Given the description of an element on the screen output the (x, y) to click on. 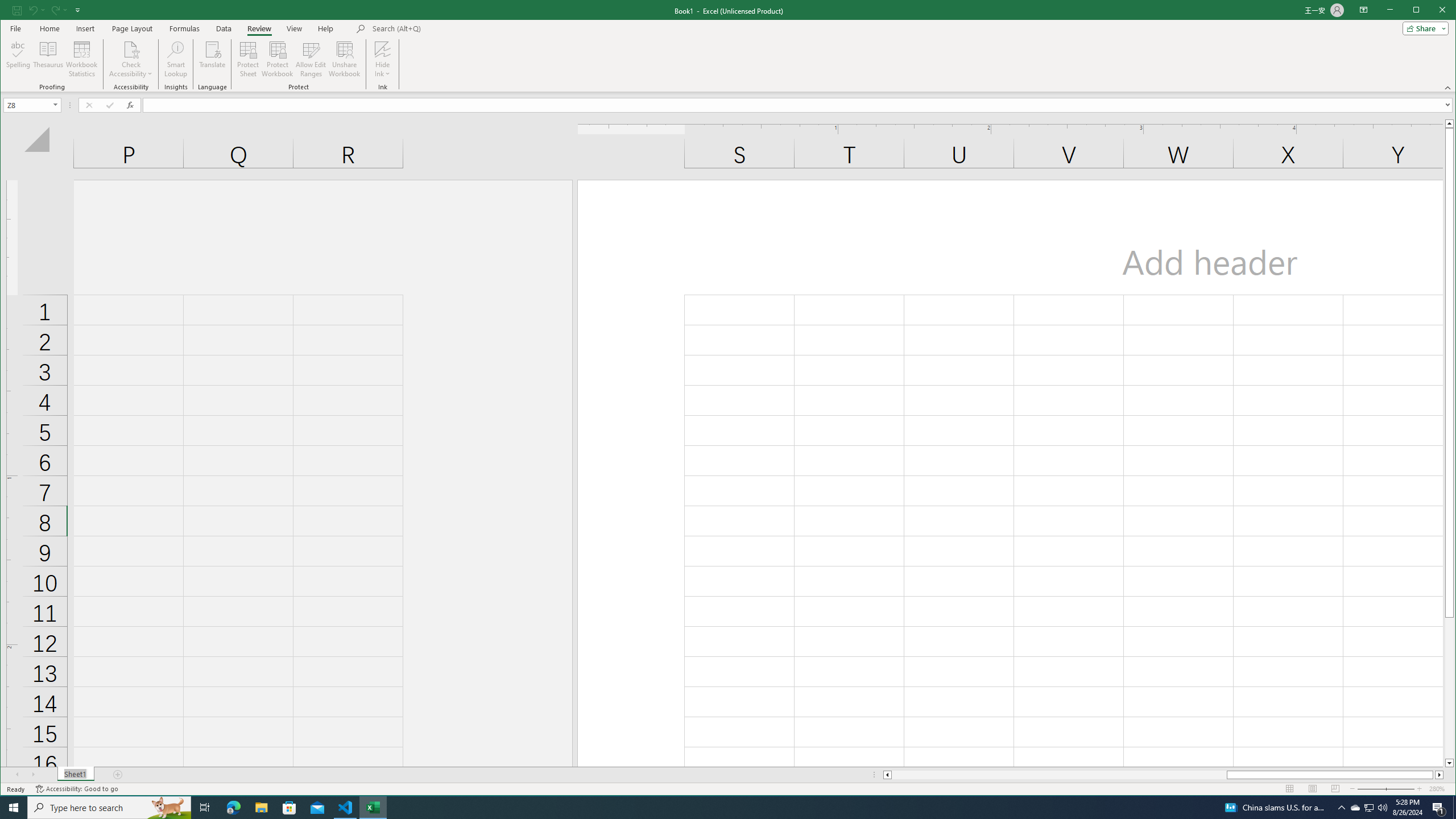
Scroll Right (34, 774)
Workbook Statistics (82, 59)
Add Sheet (118, 774)
Action Center, 1 new notification (1439, 807)
Name Box (27, 104)
Check Accessibility (130, 48)
Name Box (32, 105)
Protect Sheet... (247, 59)
Zoom In (1419, 788)
Notification Chevron (1341, 807)
Microsoft Store (289, 807)
Sheet1 (75, 774)
Redo (58, 9)
Minimize (1419, 11)
